Given the description of an element on the screen output the (x, y) to click on. 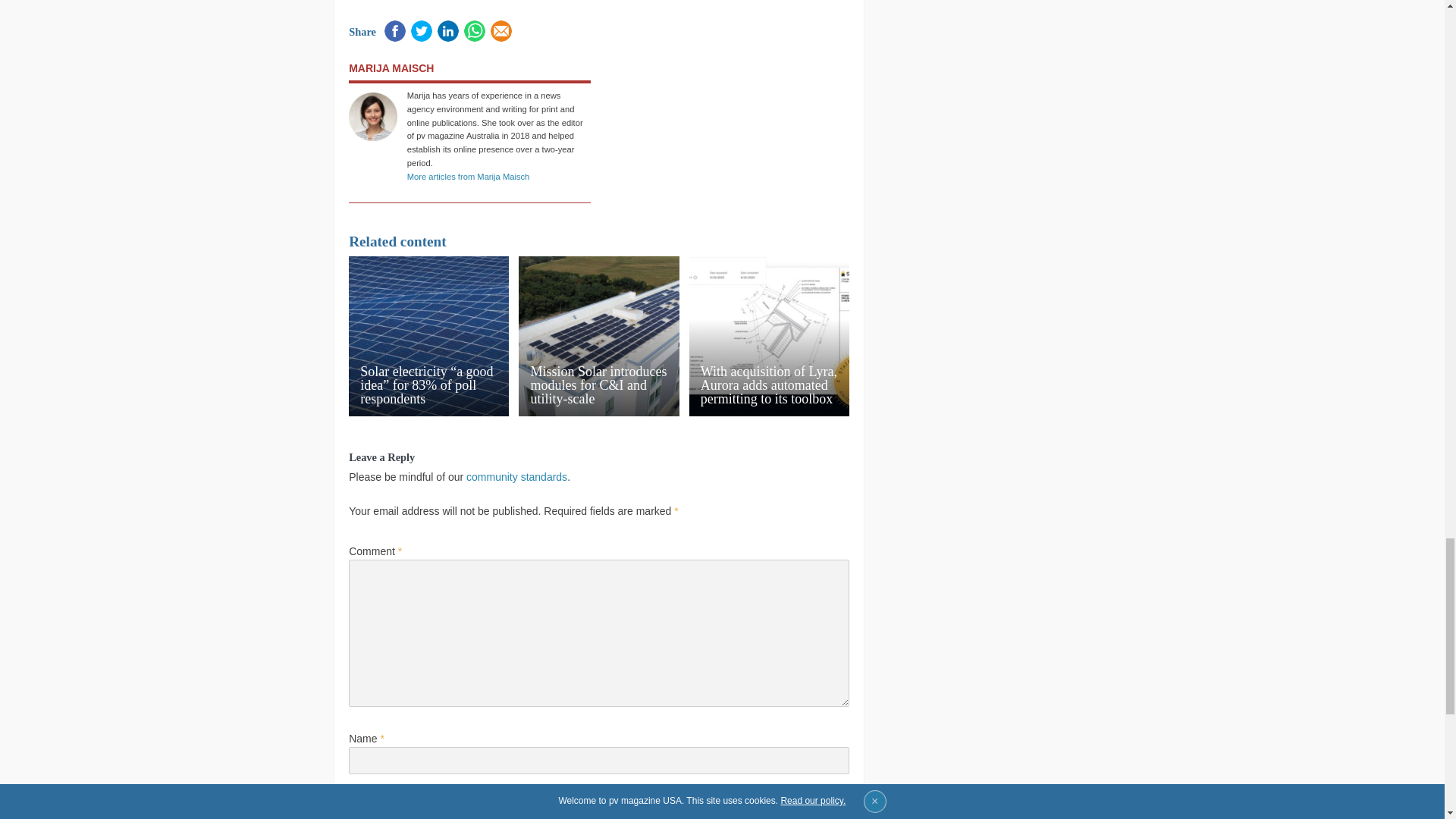
3rd party ad content (727, 126)
